Given the description of an element on the screen output the (x, y) to click on. 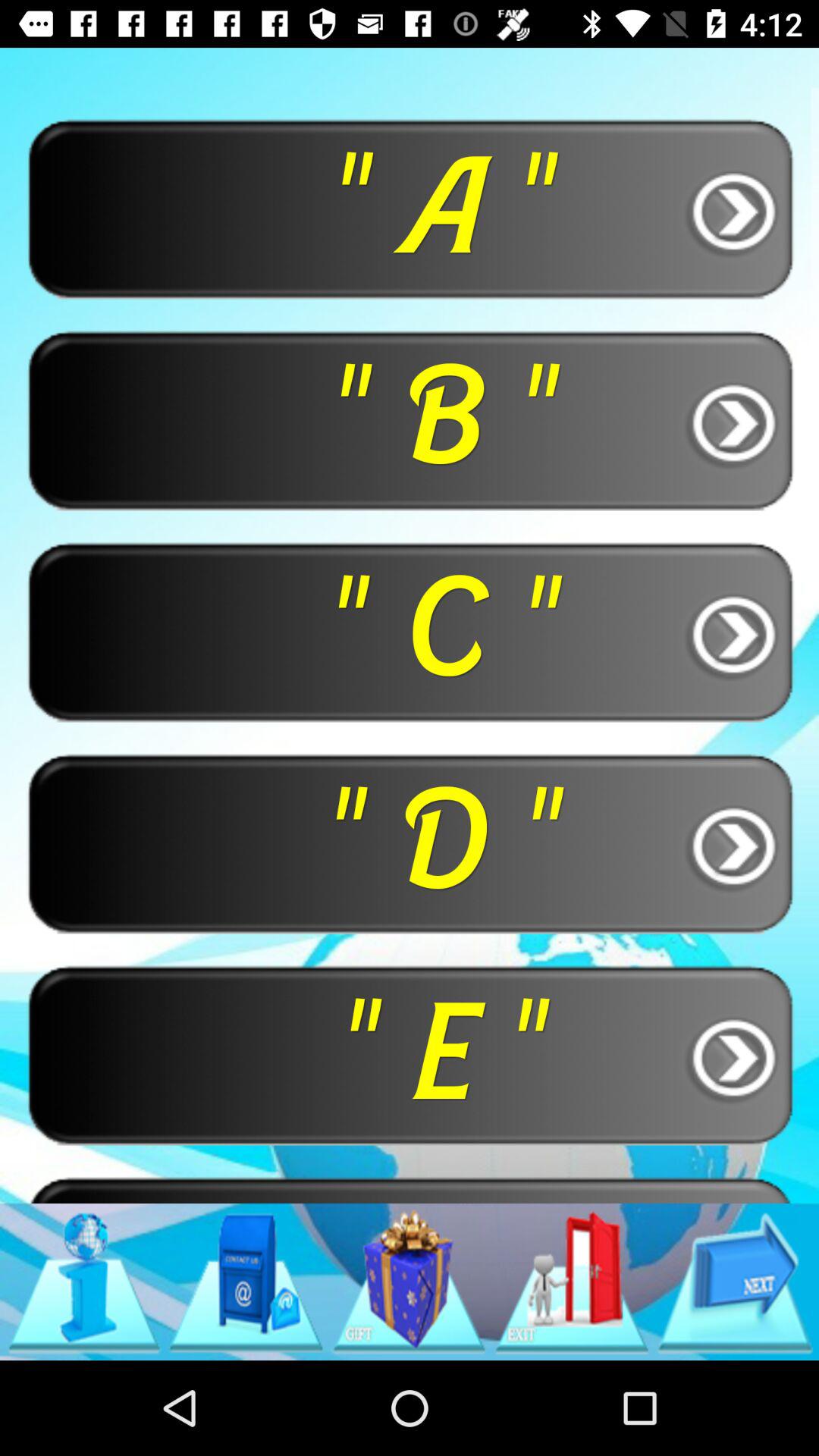
open the icon above   " c " (409, 419)
